Given the description of an element on the screen output the (x, y) to click on. 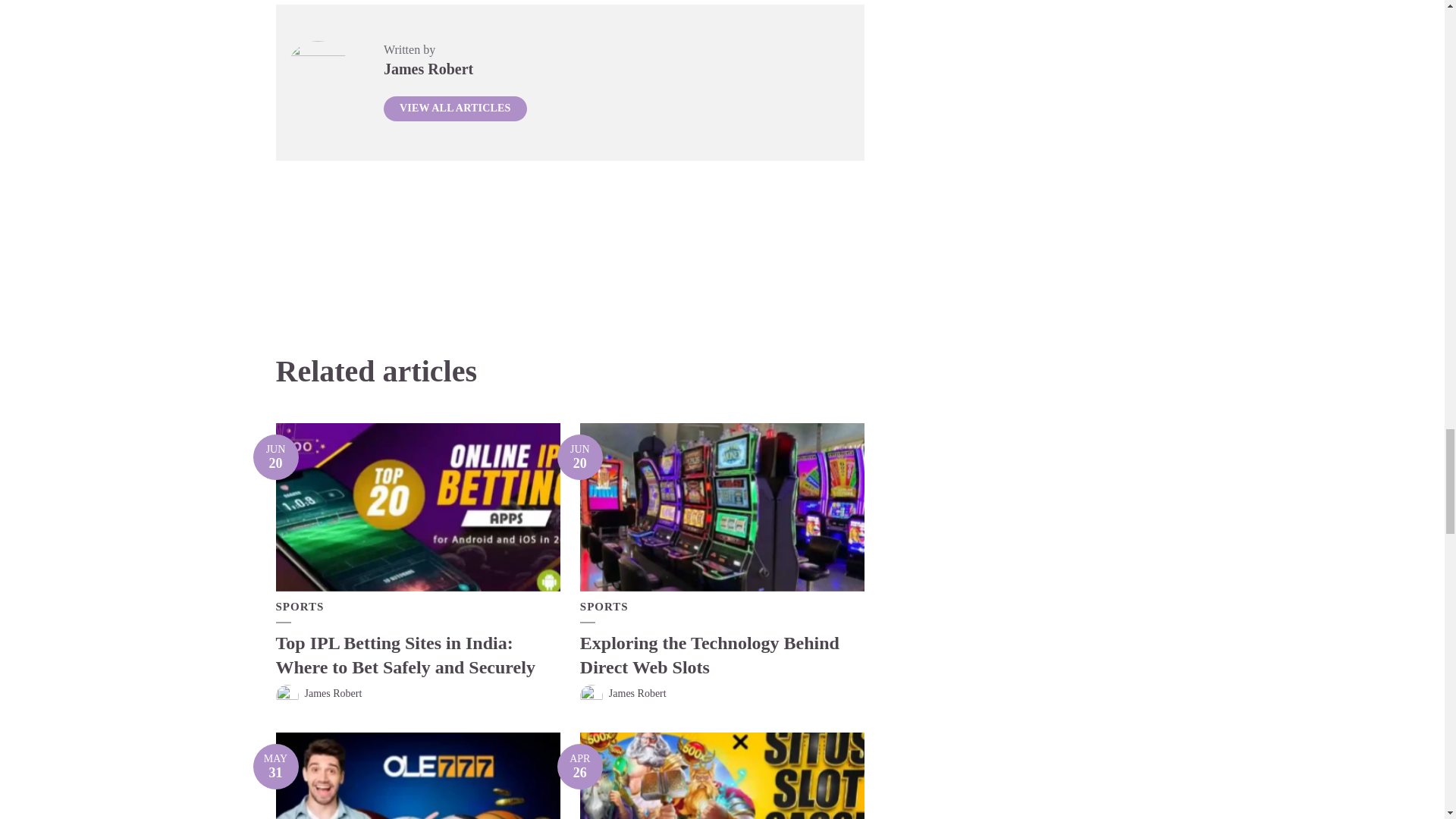
SPORTS (300, 606)
VIEW ALL ARTICLES (275, 456)
